Given the description of an element on the screen output the (x, y) to click on. 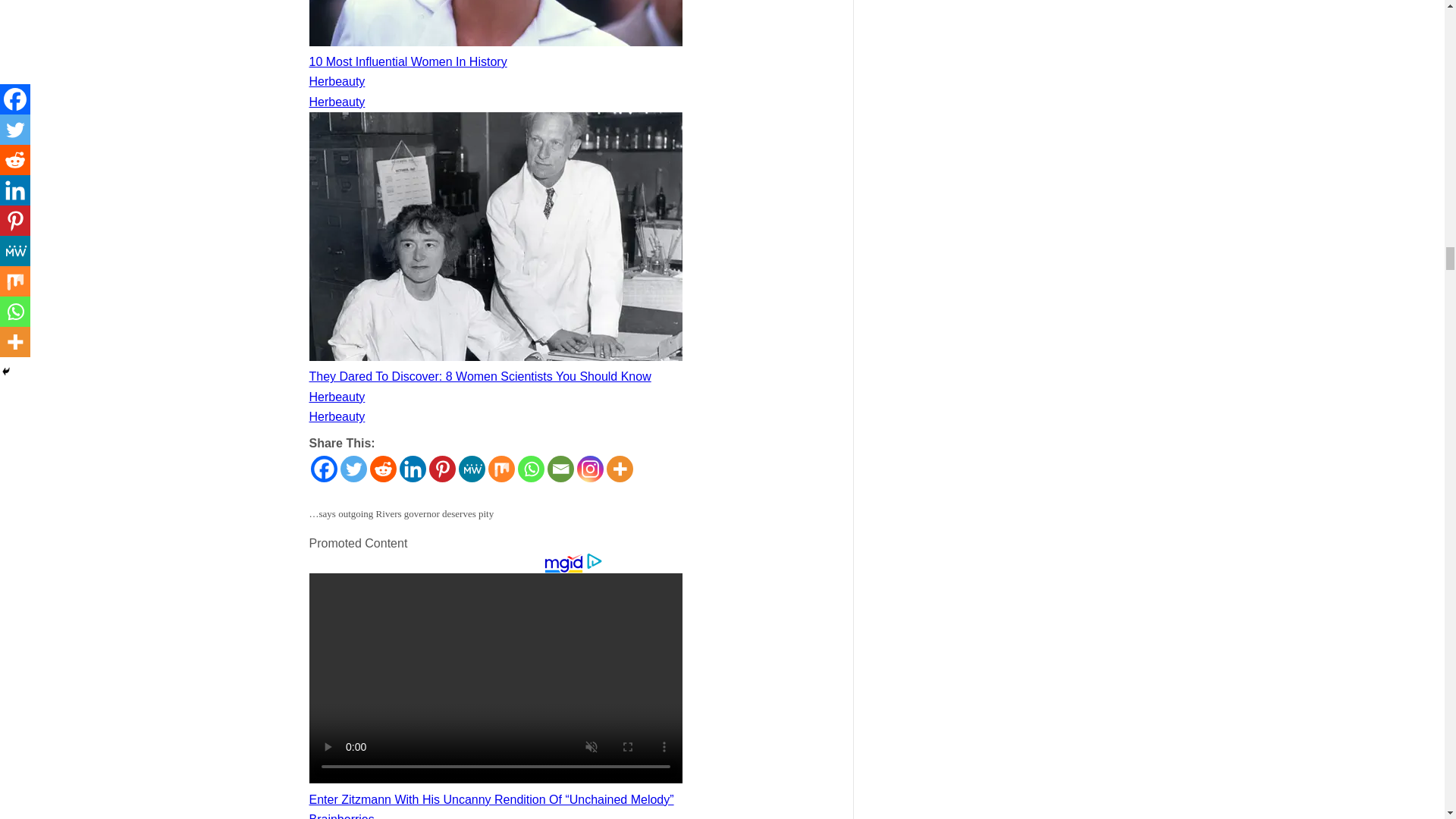
Facebook (324, 468)
Mix (501, 468)
Whatsapp (529, 468)
Email (560, 468)
Reddit (382, 468)
MeWe (471, 468)
Pinterest (442, 468)
Linkedin (411, 468)
Instagram (589, 468)
Twitter (352, 468)
